Given the description of an element on the screen output the (x, y) to click on. 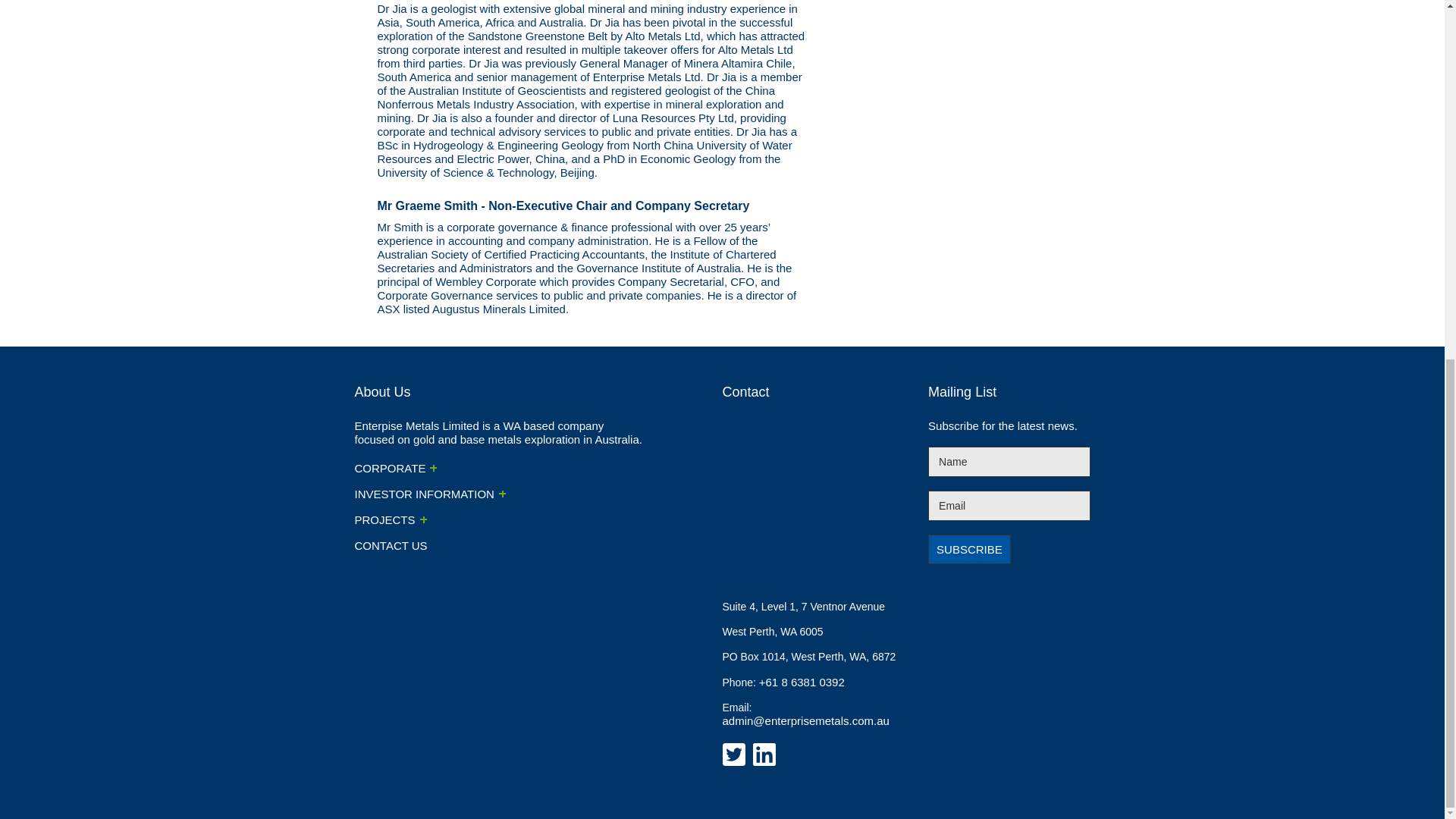
CORPORATE (396, 468)
Subscribe (969, 549)
Subscribe (969, 549)
PROJECTS (390, 519)
CONTACT US (397, 545)
INVESTOR INFORMATION (430, 493)
